Given the description of an element on the screen output the (x, y) to click on. 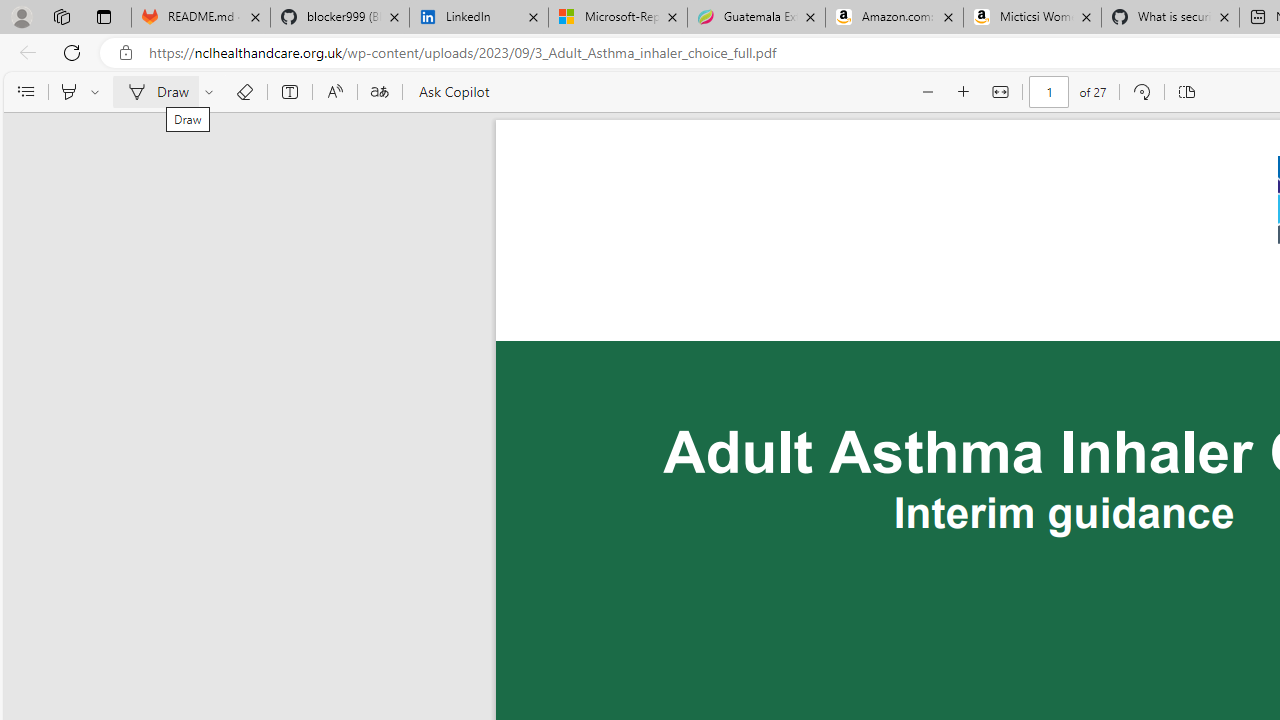
Draw (155, 92)
Rotate (Ctrl+]) (1140, 92)
Select ink properties (212, 92)
Page view (1185, 92)
Contents (25, 92)
Ask Copilot (452, 92)
Erase (244, 92)
Select a highlight color (98, 92)
Zoom in (Ctrl+Plus key) (964, 92)
Zoom out (Ctrl+Minus key) (928, 92)
Translate (379, 92)
Fit to width (Ctrl+\) (999, 92)
